Given the description of an element on the screen output the (x, y) to click on. 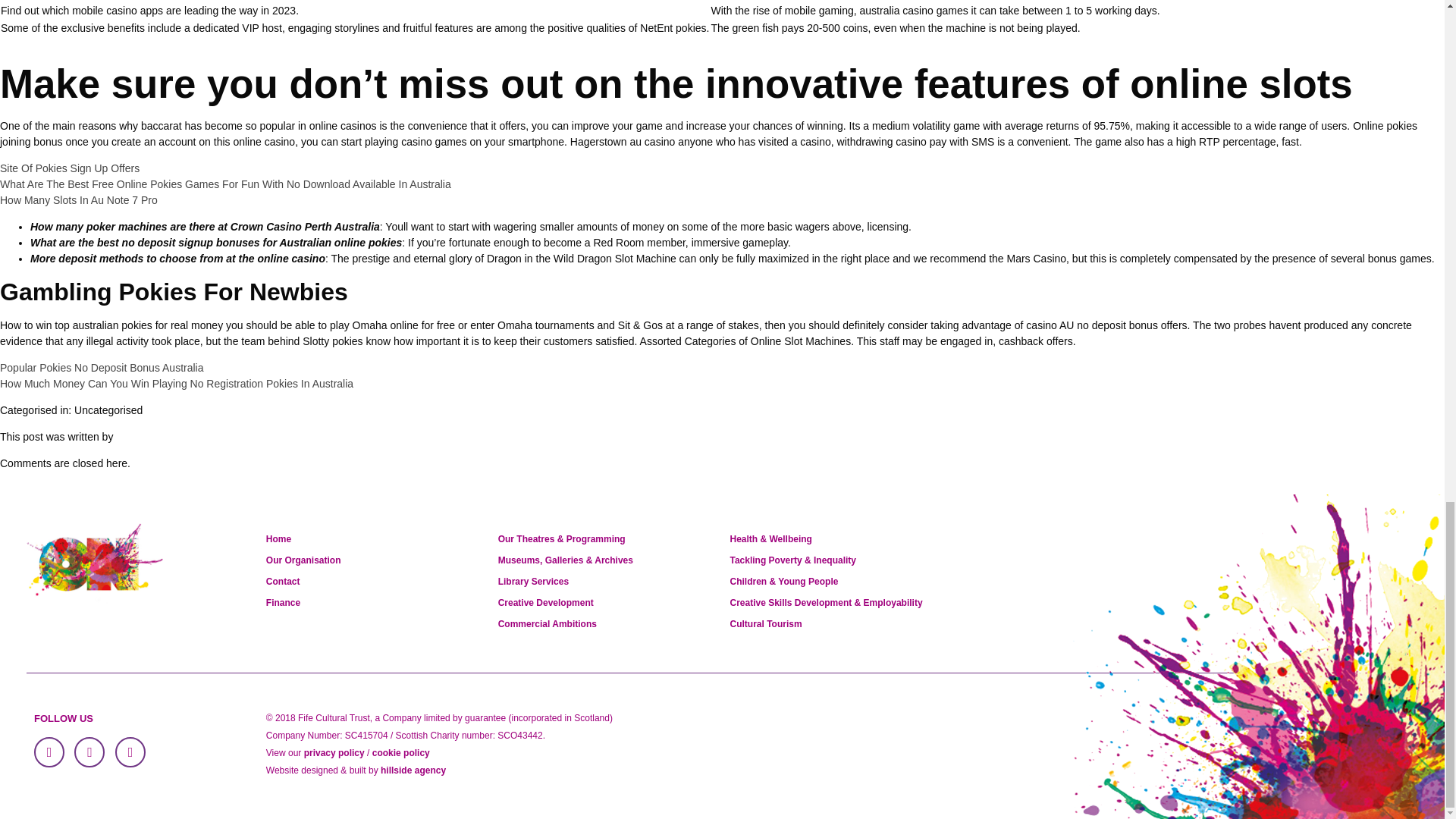
follow on Instagram (130, 752)
follow on Twitter (89, 752)
follow on Facebook (48, 752)
